Given the description of an element on the screen output the (x, y) to click on. 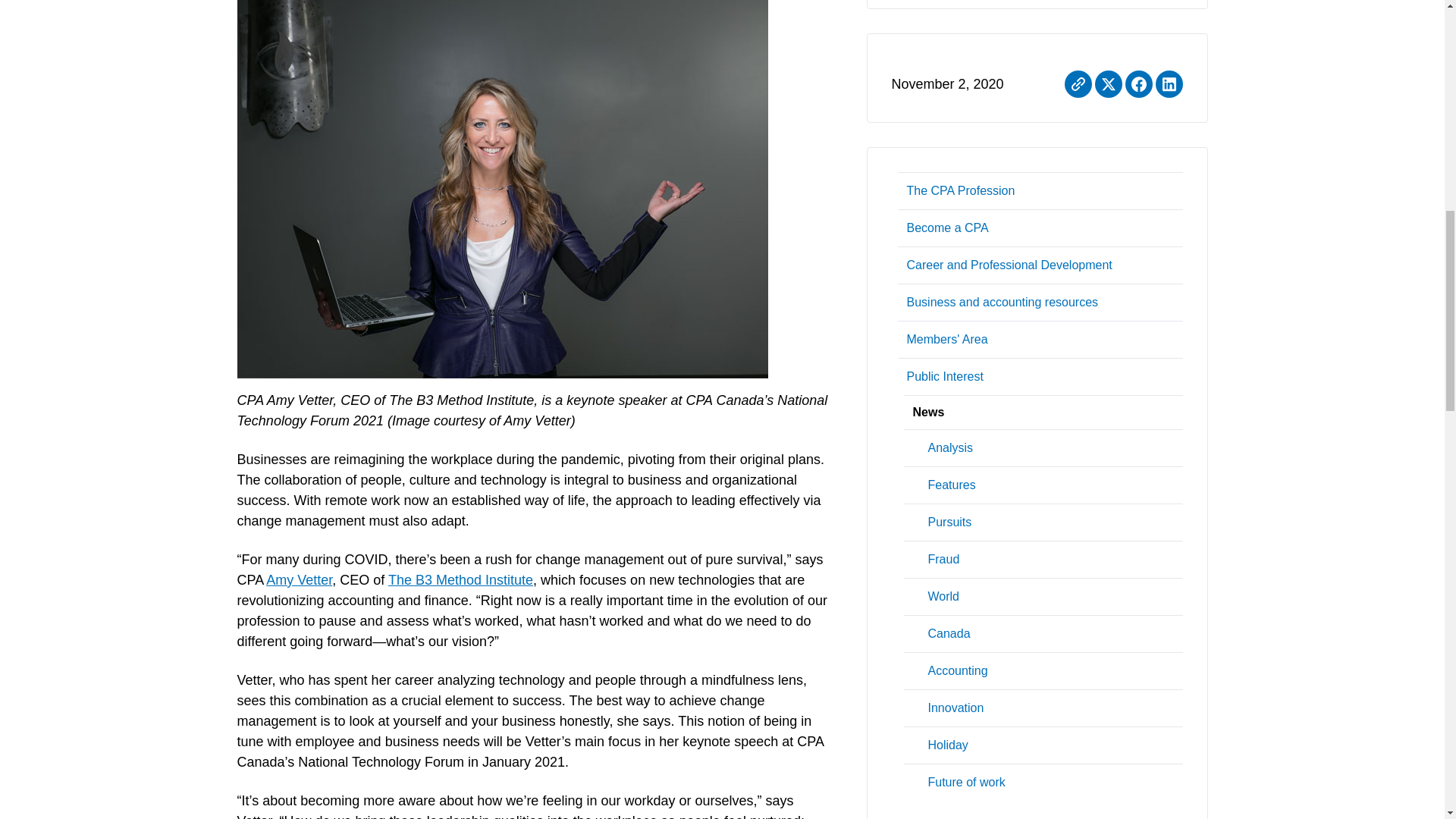
Become a CPA (1040, 227)
Amy Vetter (298, 580)
The CPA Profession (1040, 190)
The B3 Method Institute (460, 580)
